Given the description of an element on the screen output the (x, y) to click on. 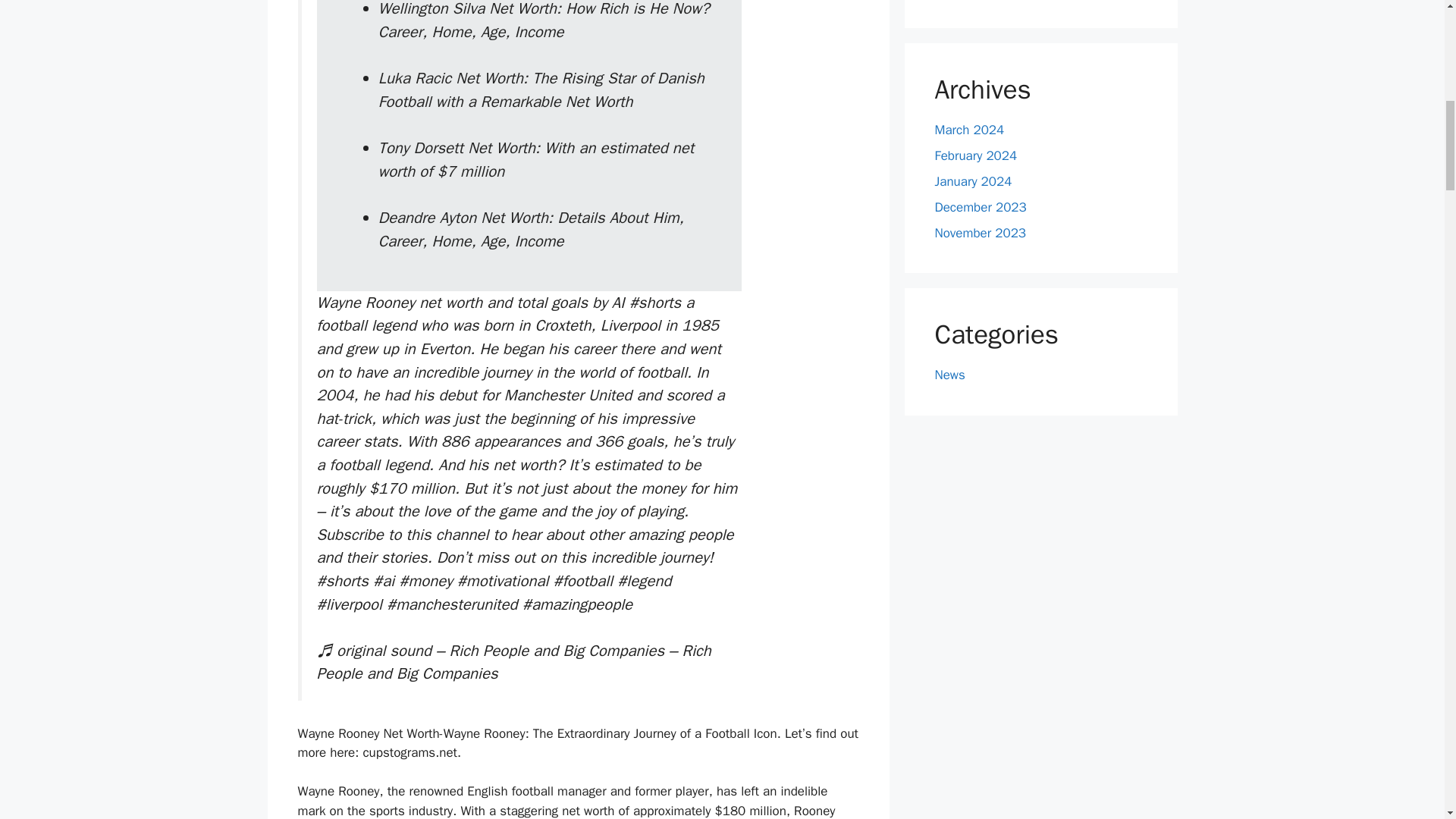
February 2024 (975, 155)
News (948, 374)
November 2023 (980, 232)
December 2023 (980, 207)
January 2024 (972, 181)
March 2024 (969, 130)
